Given the description of an element on the screen output the (x, y) to click on. 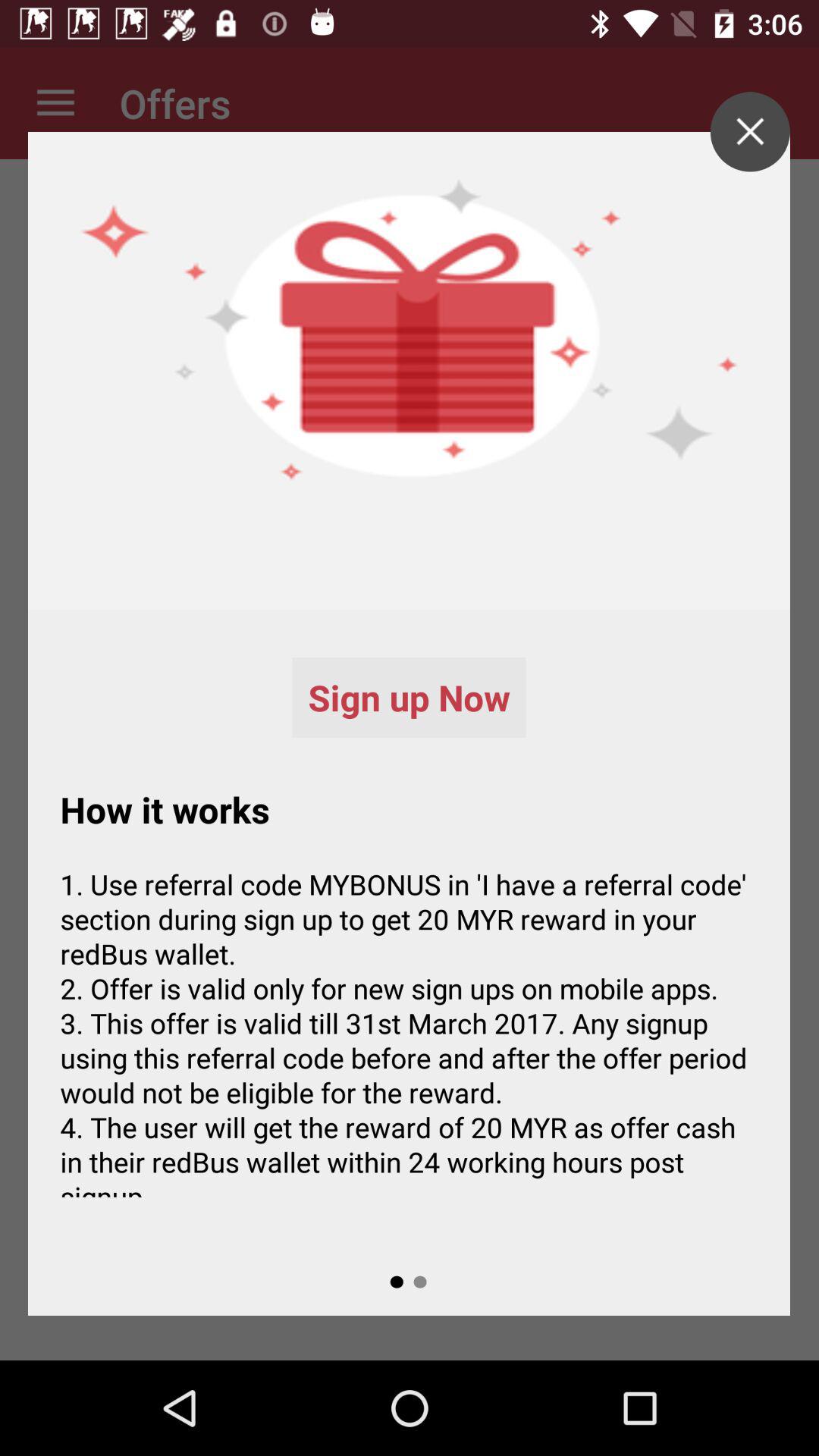
exit (749, 131)
